Given the description of an element on the screen output the (x, y) to click on. 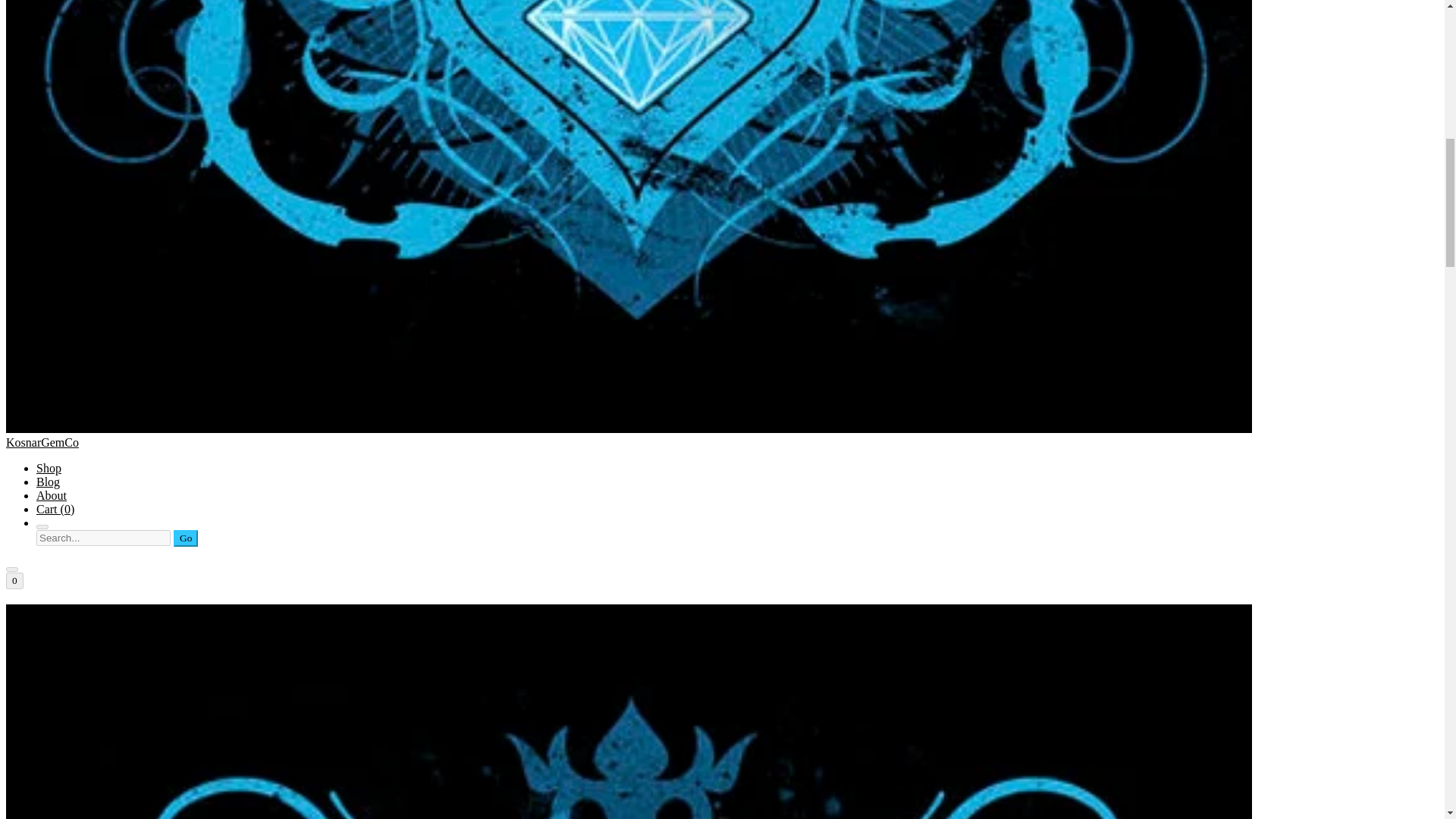
Blog (47, 481)
Go (185, 538)
About (51, 495)
Go (185, 538)
Shop (48, 468)
0 (14, 580)
